Given the description of an element on the screen output the (x, y) to click on. 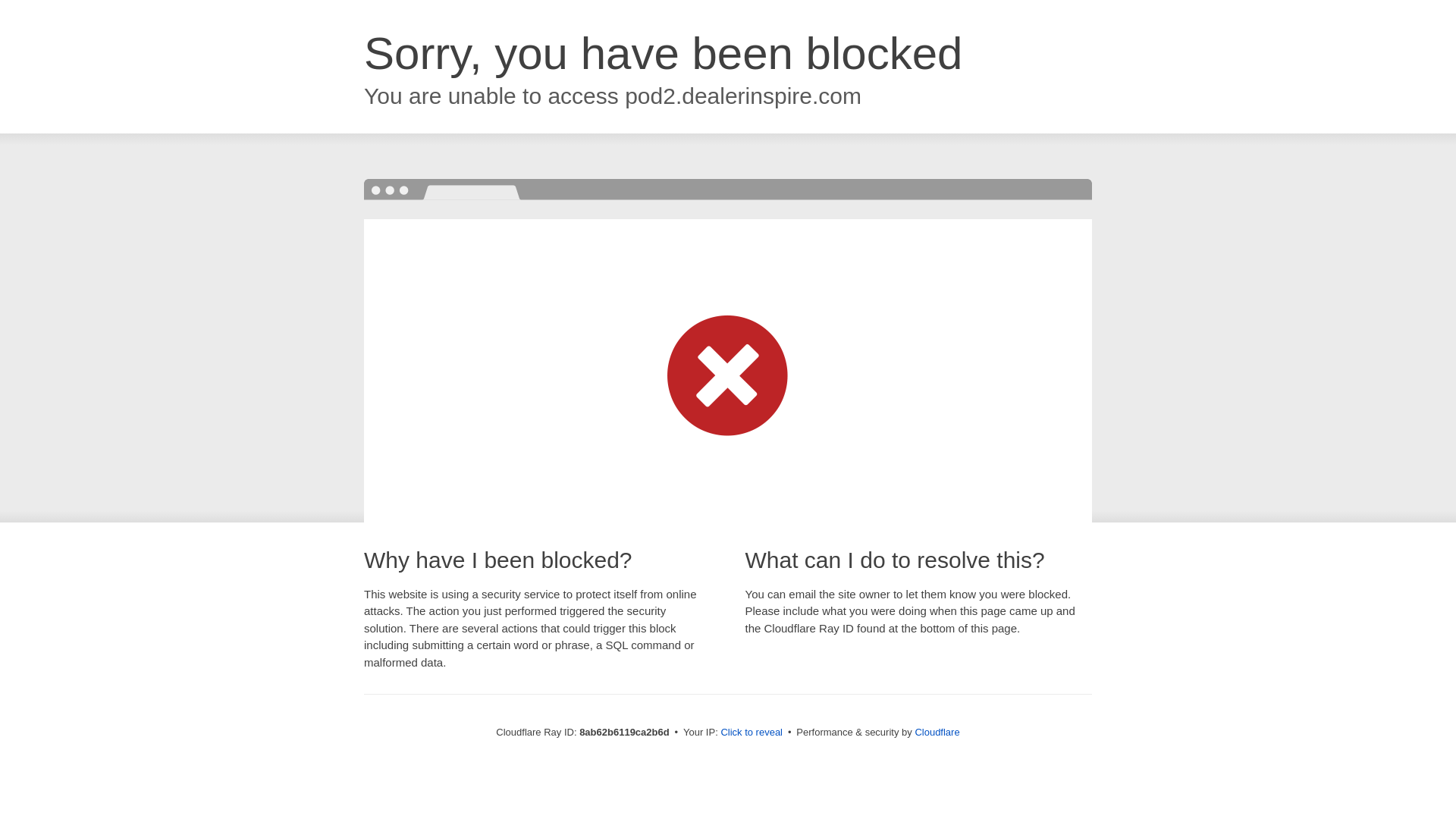
Cloudflare (936, 731)
Click to reveal (751, 732)
